Given the description of an element on the screen output the (x, y) to click on. 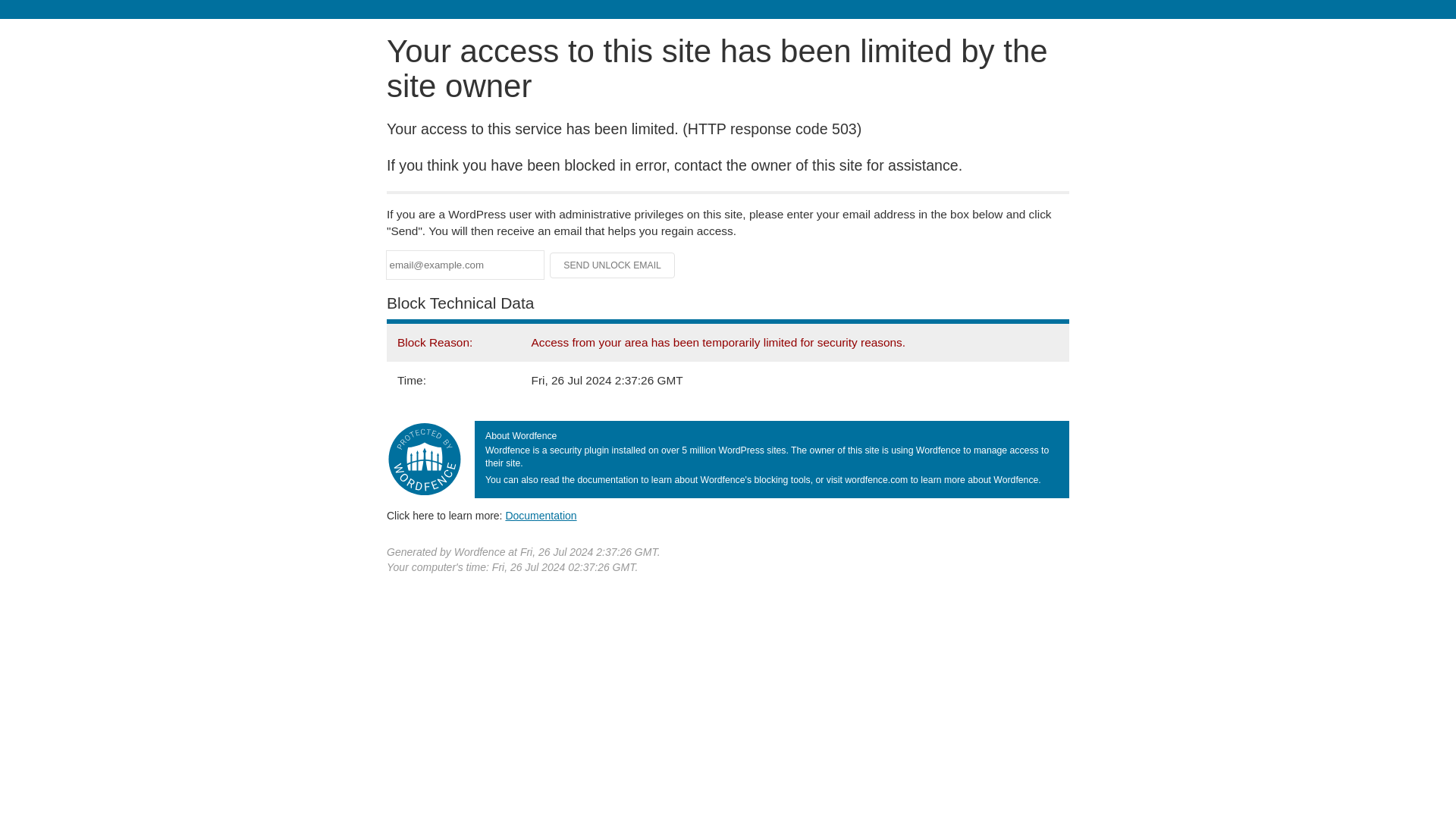
Send Unlock Email (612, 265)
Send Unlock Email (612, 265)
Documentation (540, 515)
